Given the description of an element on the screen output the (x, y) to click on. 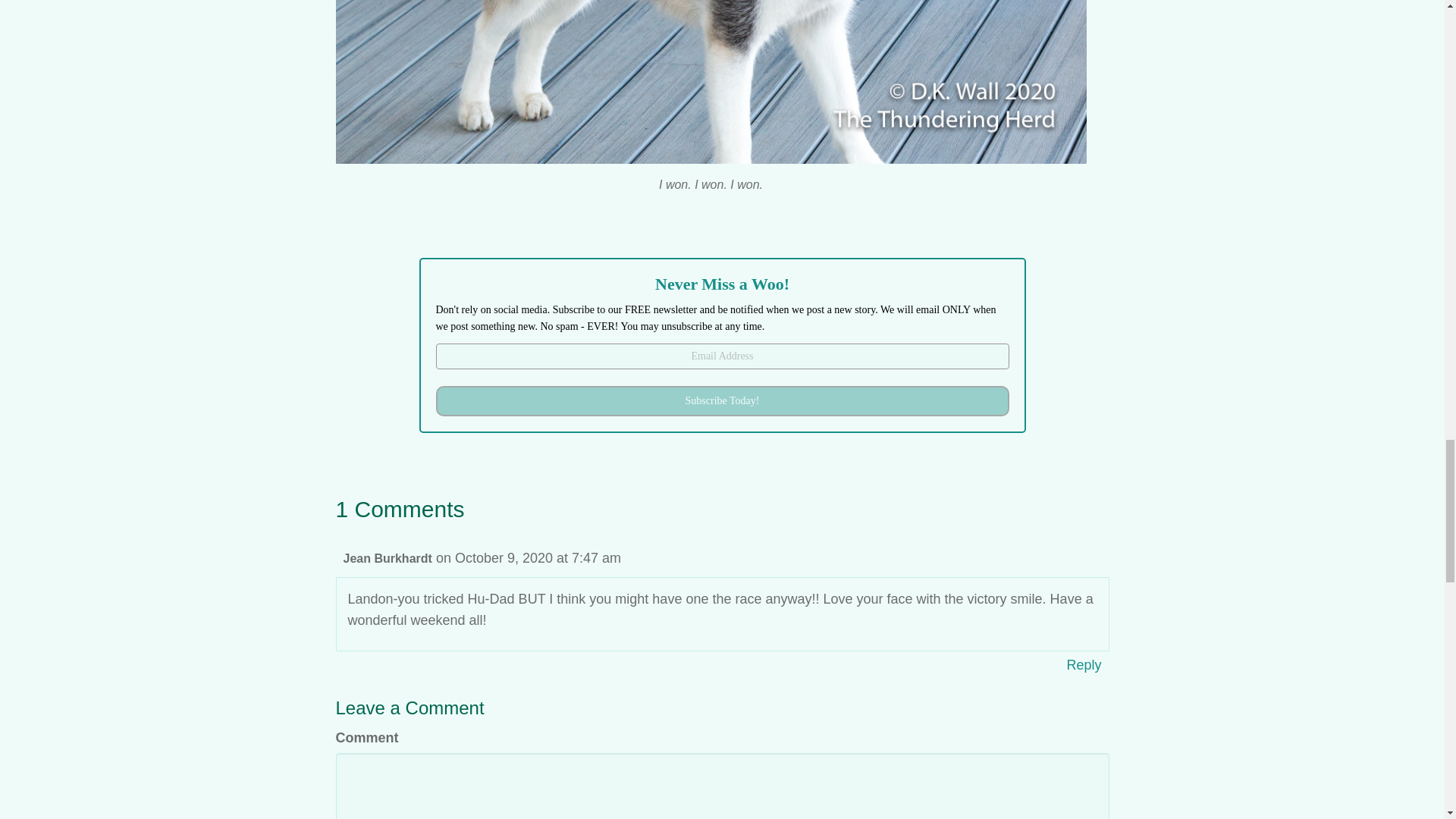
Subscribe Today! (722, 400)
Reply (1083, 664)
